Given the description of an element on the screen output the (x, y) to click on. 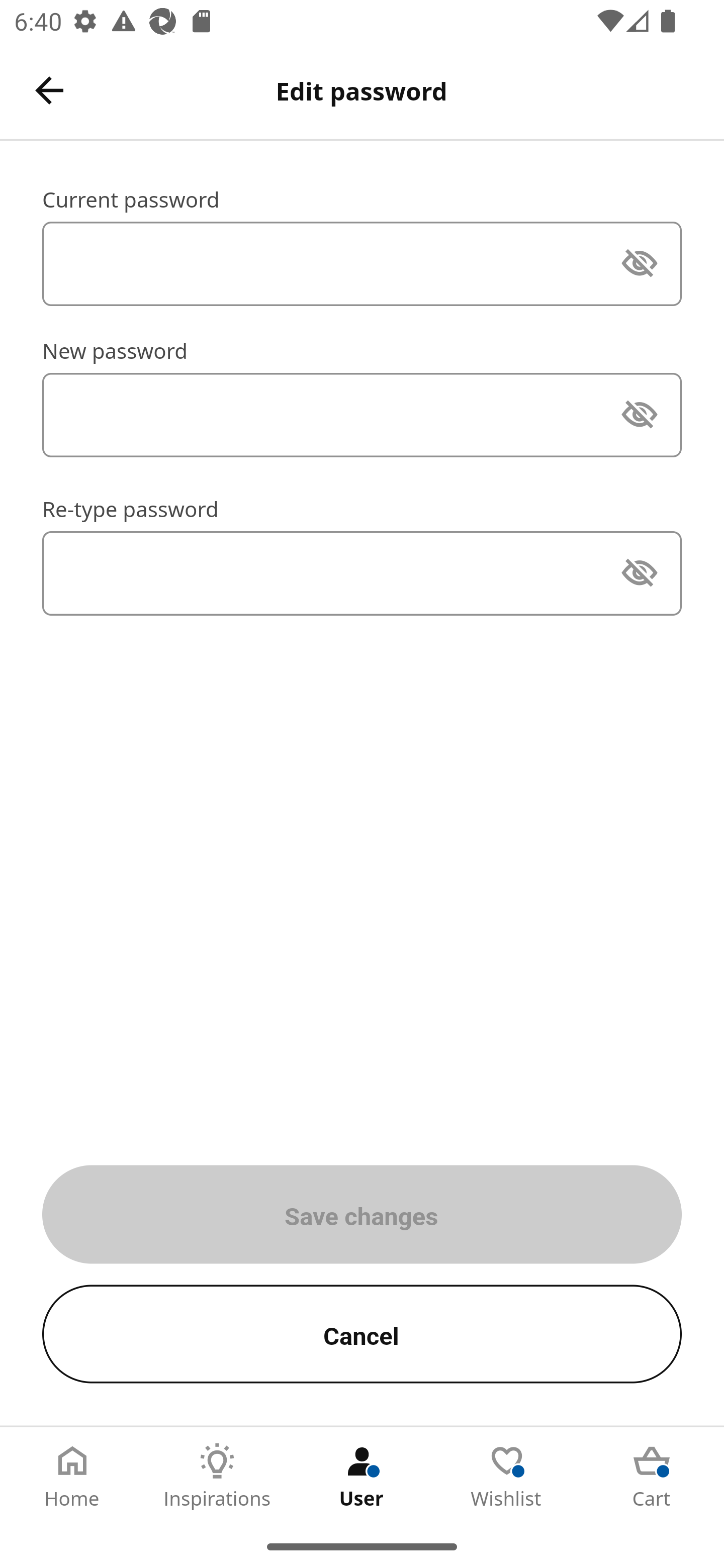
Save changes (361, 1214)
Cancel (361, 1333)
Home
Tab 1 of 5 (72, 1476)
Inspirations
Tab 2 of 5 (216, 1476)
User
Tab 3 of 5 (361, 1476)
Wishlist
Tab 4 of 5 (506, 1476)
Cart
Tab 5 of 5 (651, 1476)
